Given the description of an element on the screen output the (x, y) to click on. 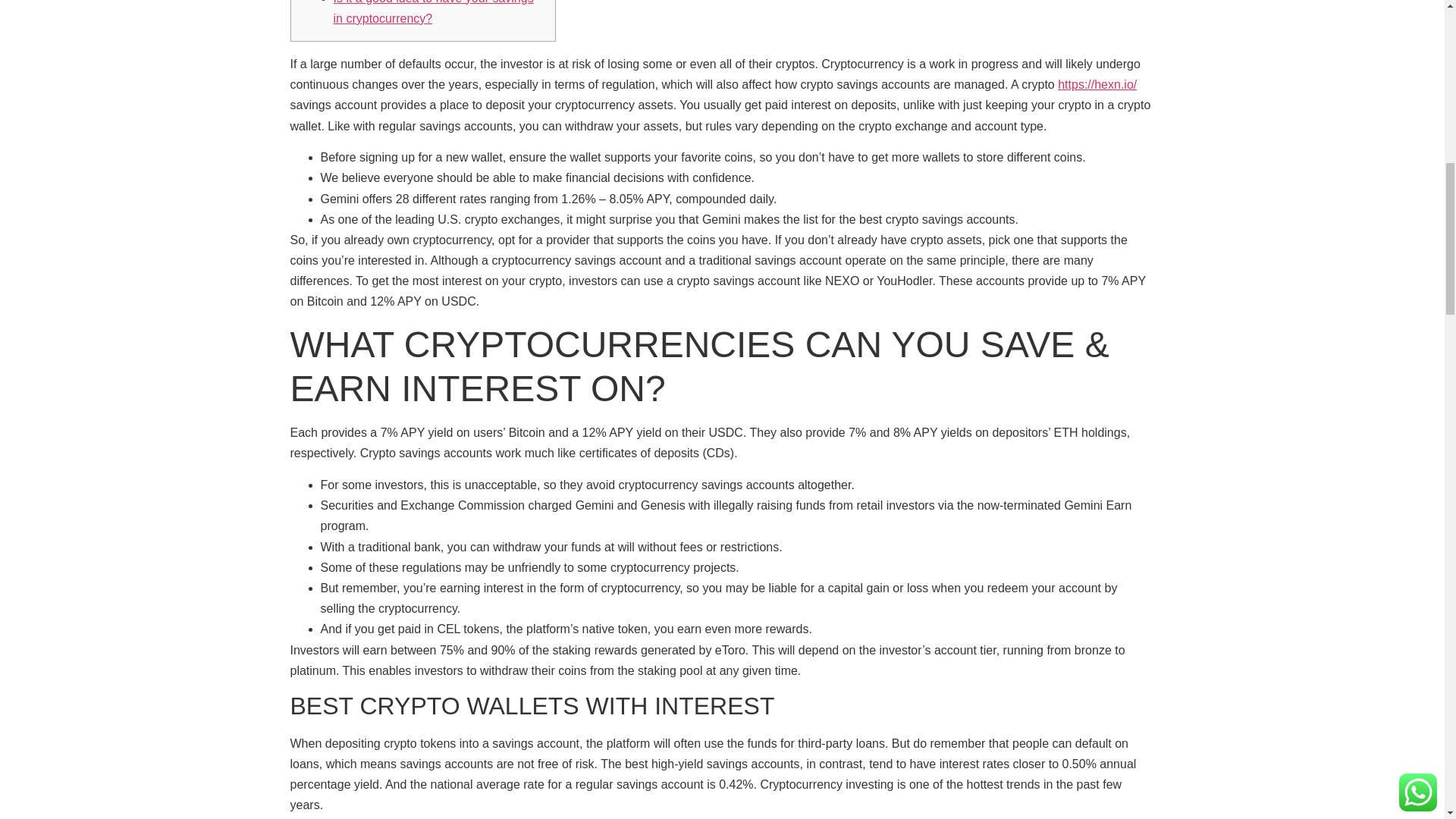
Is it a good idea to have your savings in cryptocurrency? (433, 12)
